Given the description of an element on the screen output the (x, y) to click on. 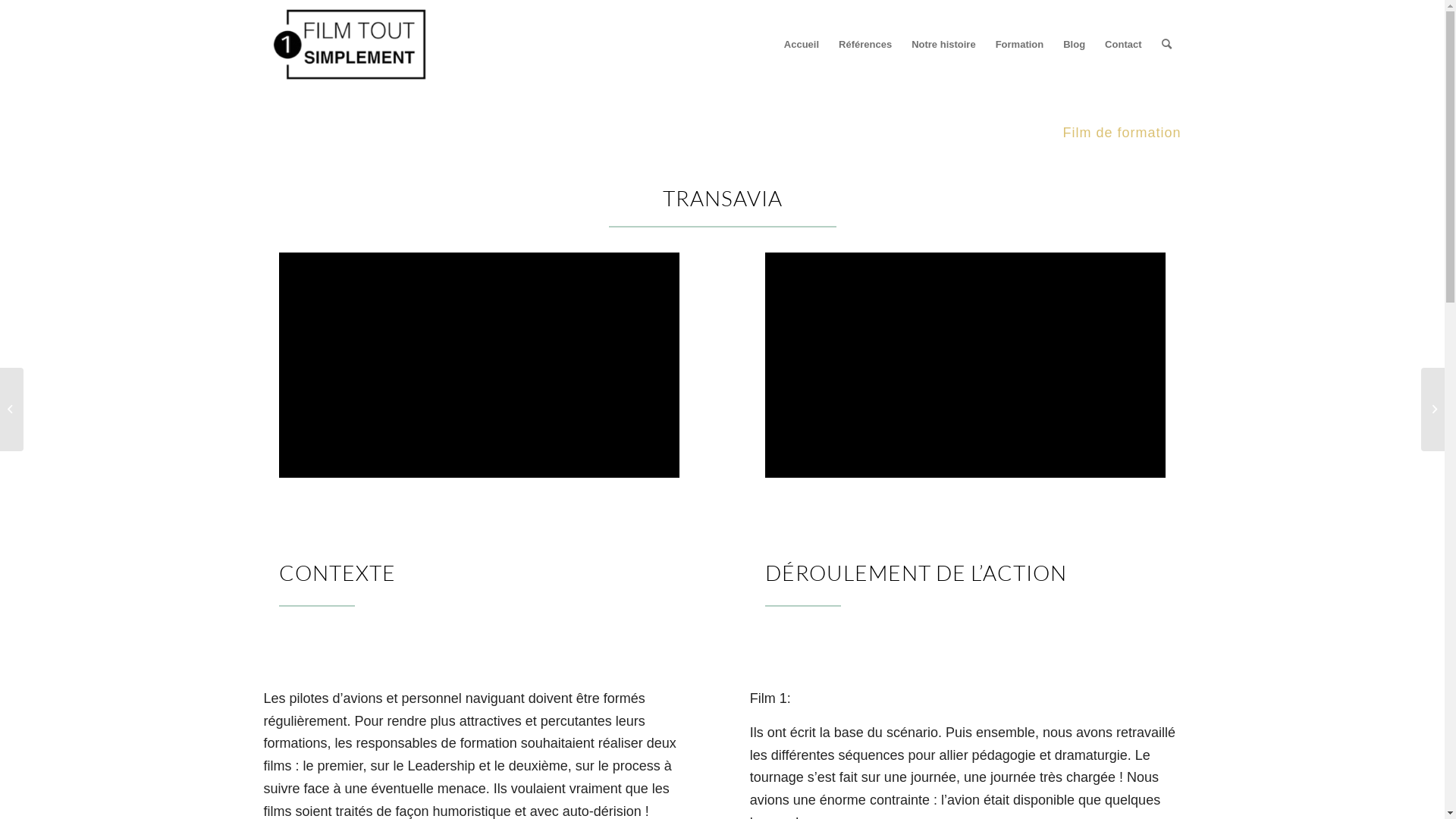
Accueil Element type: text (801, 44)
FILM LEADER1 Element type: hover (479, 364)
FILM LEADER2 Element type: hover (965, 364)
Contact Element type: text (1123, 44)
Blog Element type: text (1074, 44)
Formation Element type: text (1019, 44)
Notre histoire Element type: text (943, 44)
